Given the description of an element on the screen output the (x, y) to click on. 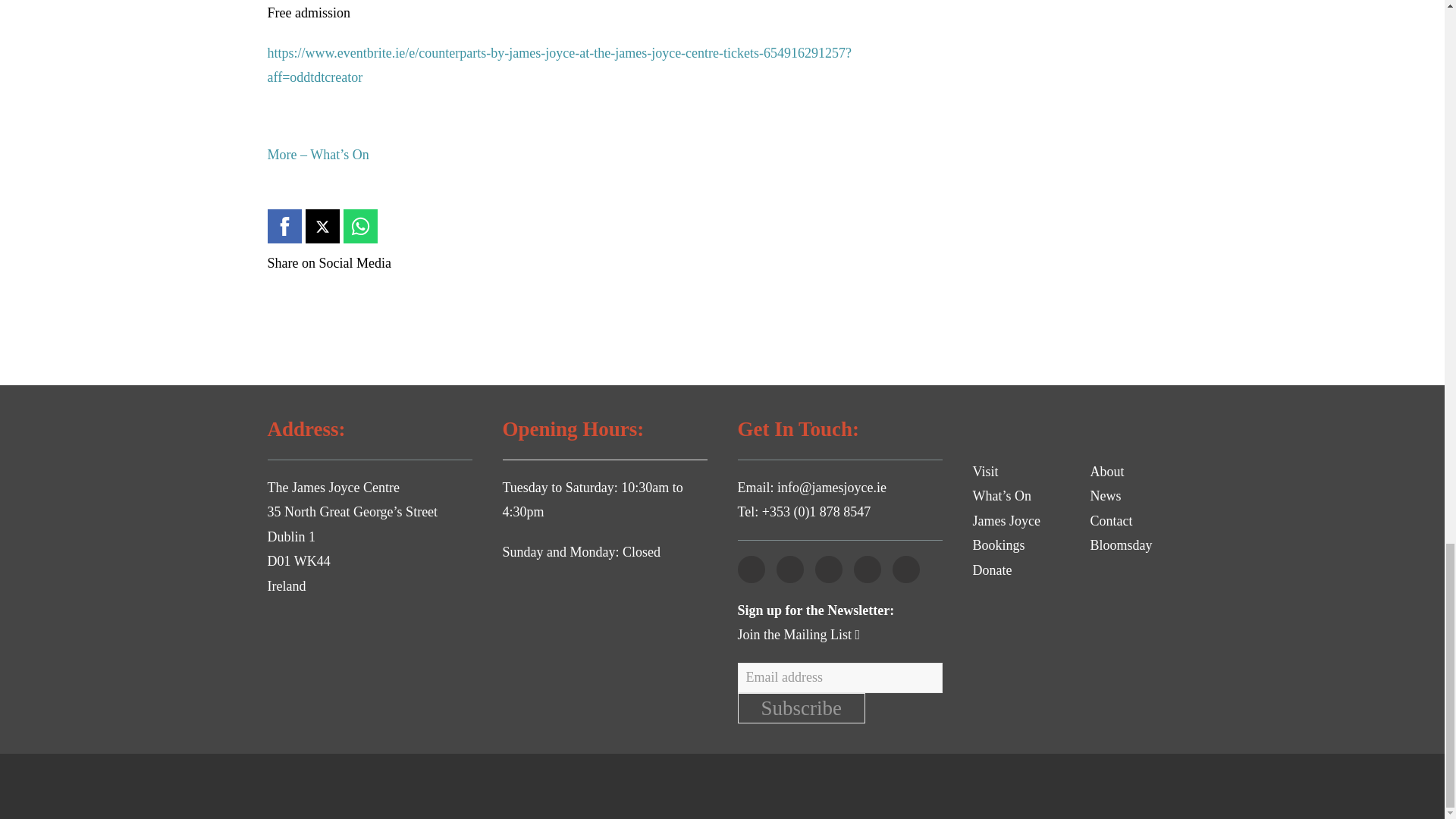
Donate (991, 570)
Subscribe (800, 707)
Contact (1111, 520)
About (1107, 471)
News (1105, 495)
Bloomsday (1121, 544)
Visit (984, 471)
James Joyce (1005, 520)
Bookings (998, 544)
